Given the description of an element on the screen output the (x, y) to click on. 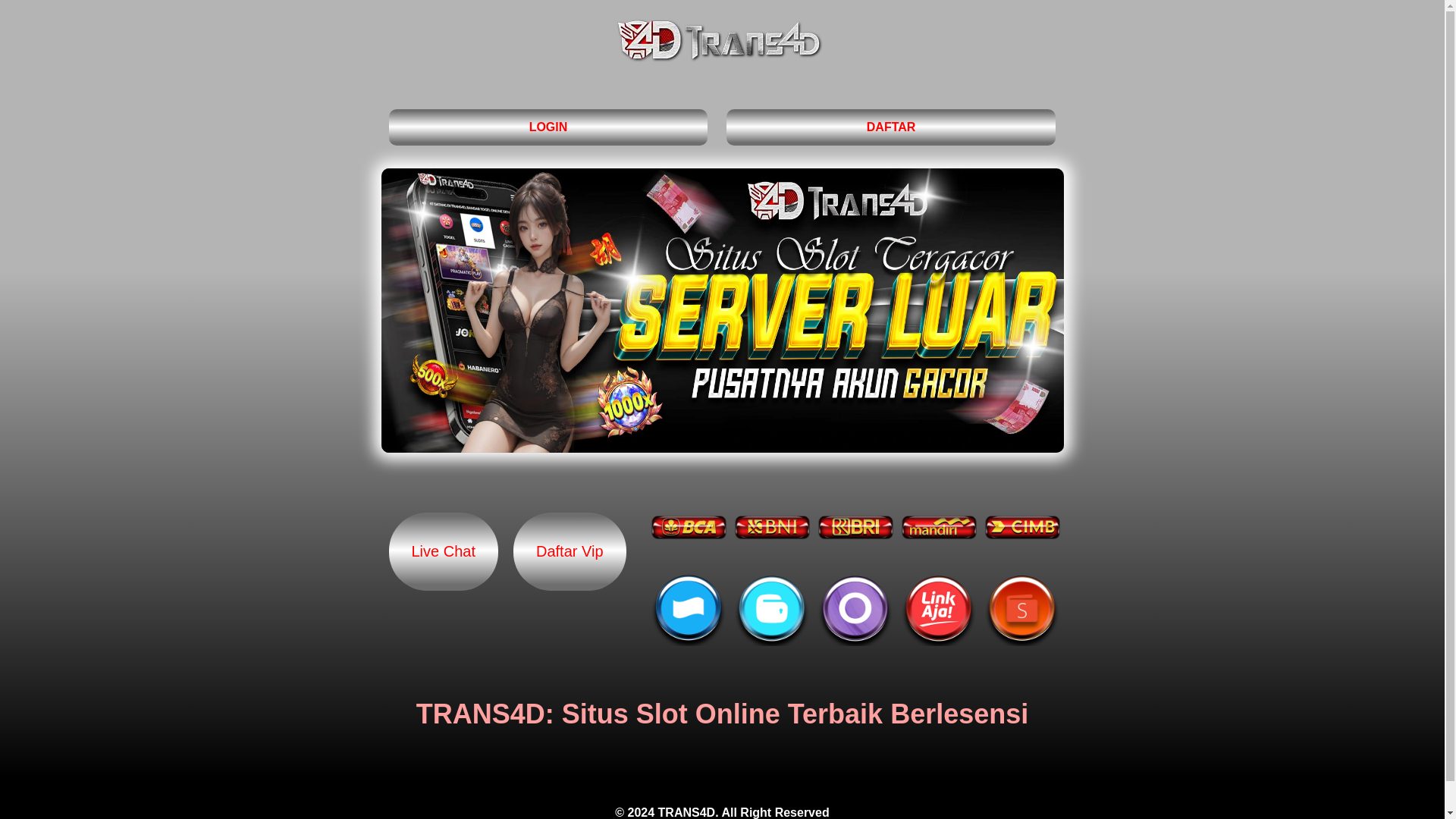
Live Chat (442, 551)
DAFTAR (891, 126)
Daftar Vip (569, 551)
LOGIN (547, 126)
